Given the description of an element on the screen output the (x, y) to click on. 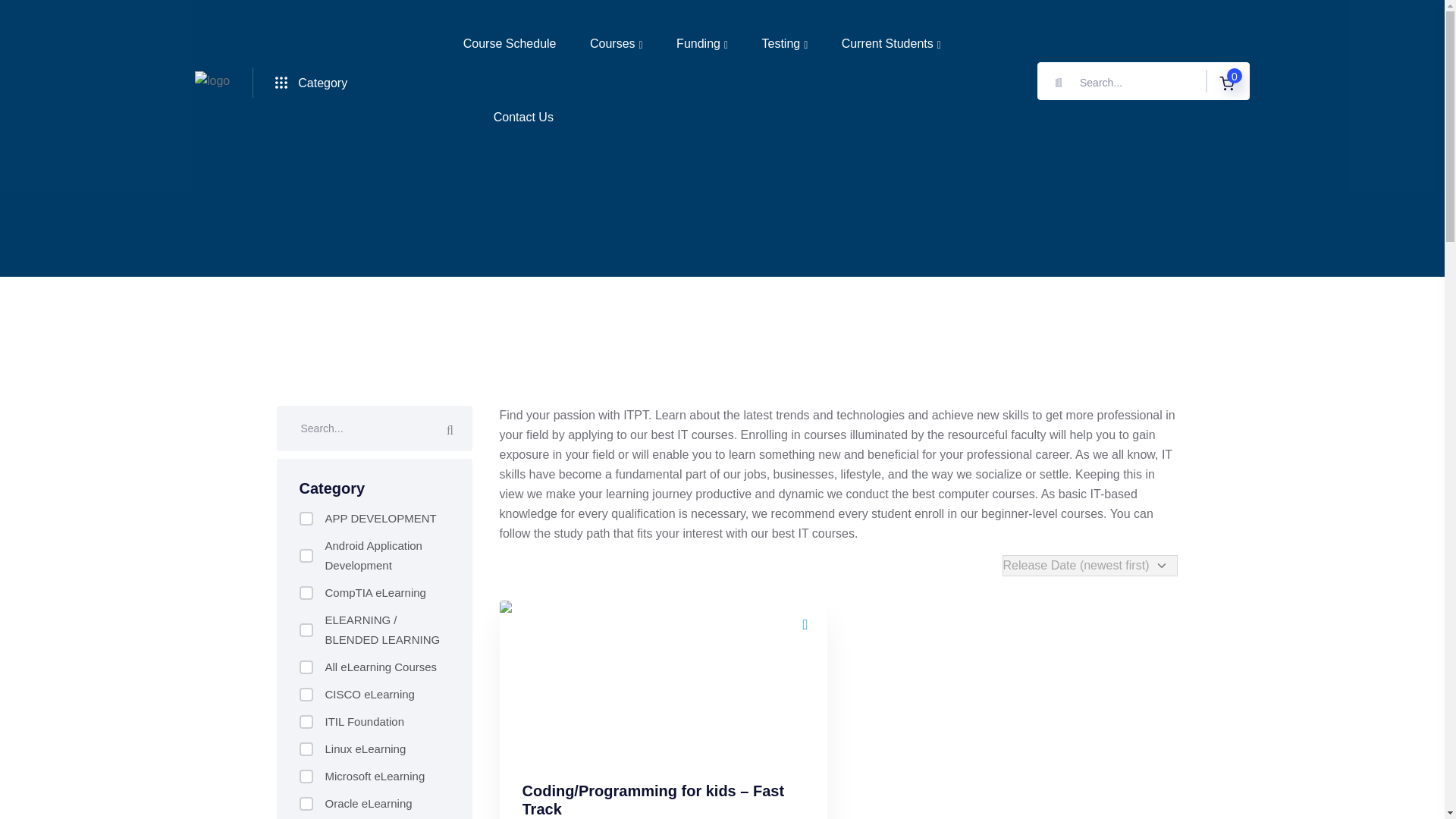
98 (305, 775)
417 (305, 592)
408 (305, 555)
95 (305, 694)
97 (305, 748)
102 (305, 667)
Course Schedule (509, 43)
99 (305, 803)
80 (305, 630)
432 (305, 721)
Course Schedule (509, 43)
Category (311, 81)
407 (305, 518)
